Given the description of an element on the screen output the (x, y) to click on. 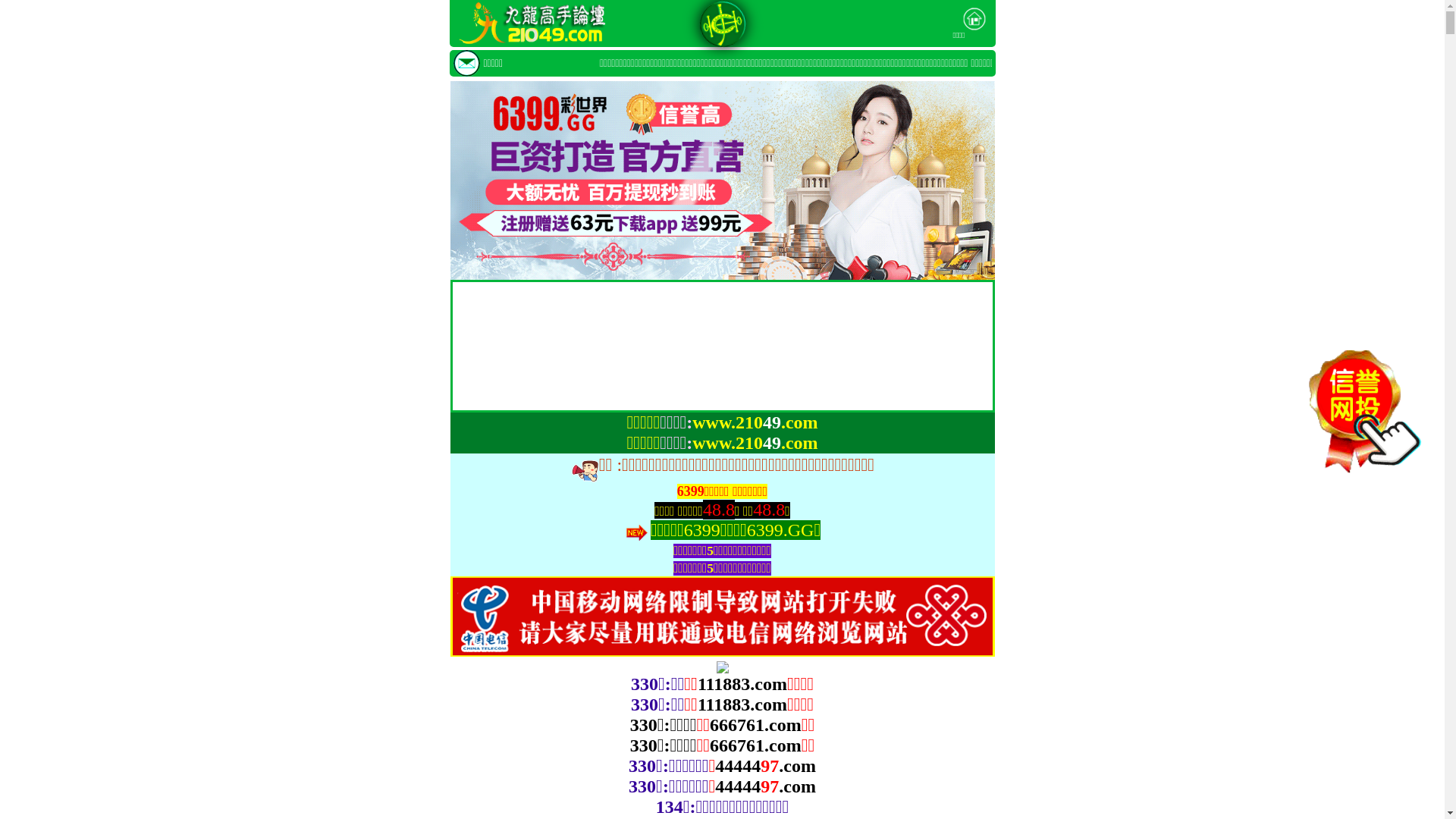
48.8 Element type: text (768, 510)
48.8 Element type: text (718, 510)
